Given the description of an element on the screen output the (x, y) to click on. 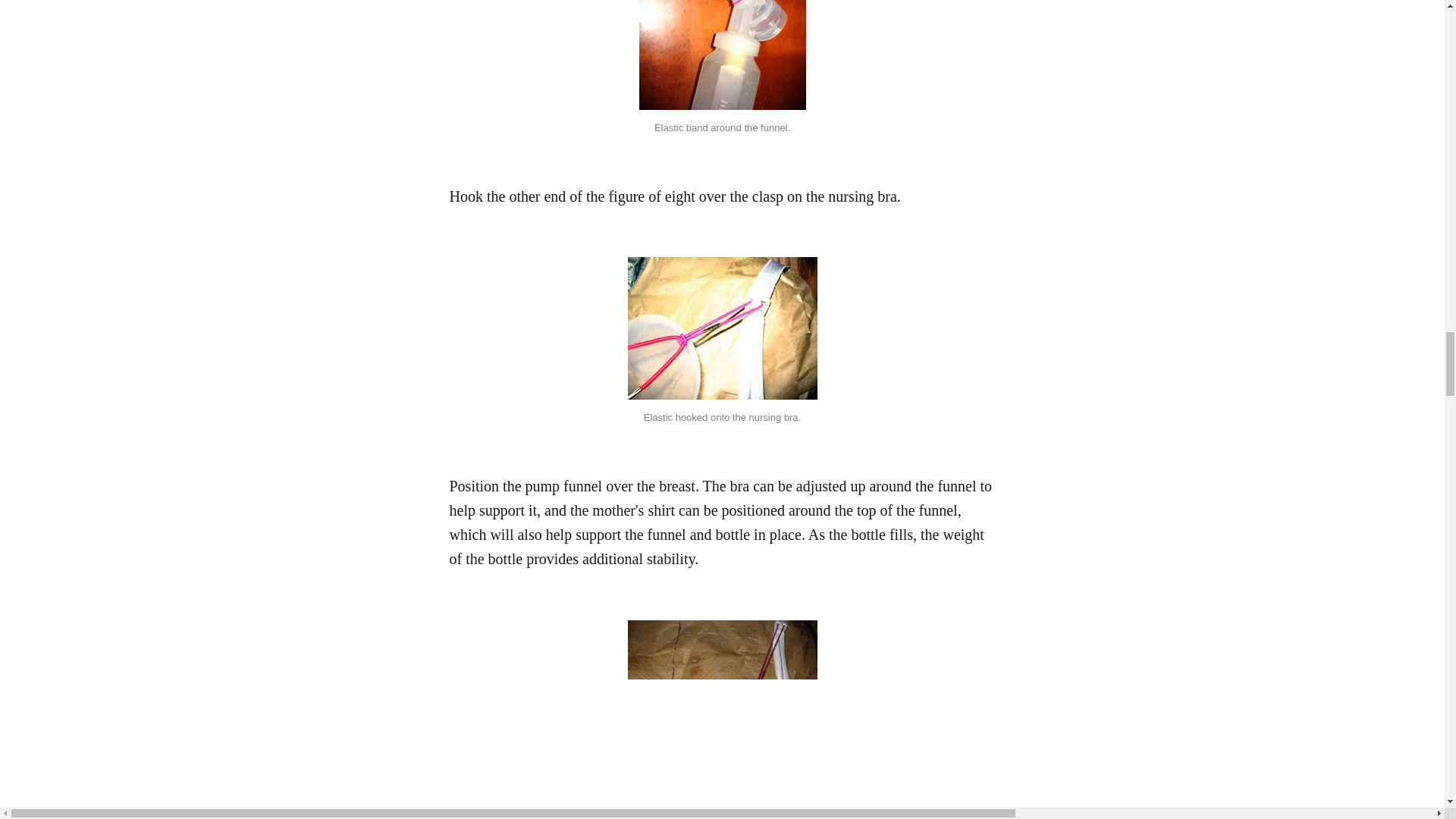
make a breast pump bra (721, 328)
breast pumpping bra (721, 719)
make a breast pump bra - breast pumps (722, 54)
